Given the description of an element on the screen output the (x, y) to click on. 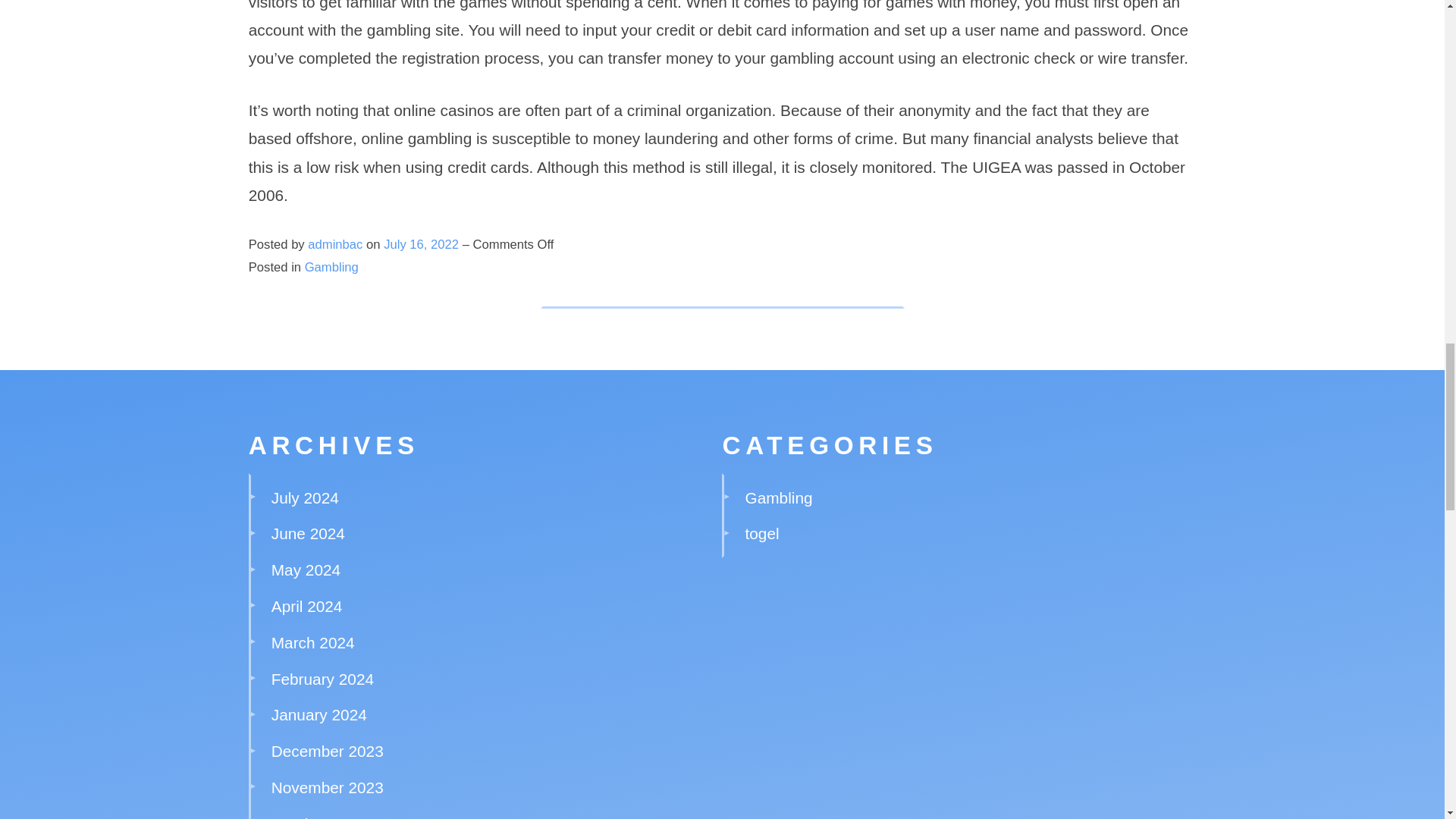
July 16, 2022 (423, 244)
December 2023 (327, 751)
adminbac (334, 244)
June 2024 (307, 533)
January 2024 (318, 714)
July 2024 (304, 497)
April 2024 (306, 606)
February 2024 (322, 678)
October 2023 (318, 816)
March 2024 (312, 642)
November 2023 (327, 787)
Gambling (331, 267)
May 2024 (305, 569)
